Given the description of an element on the screen output the (x, y) to click on. 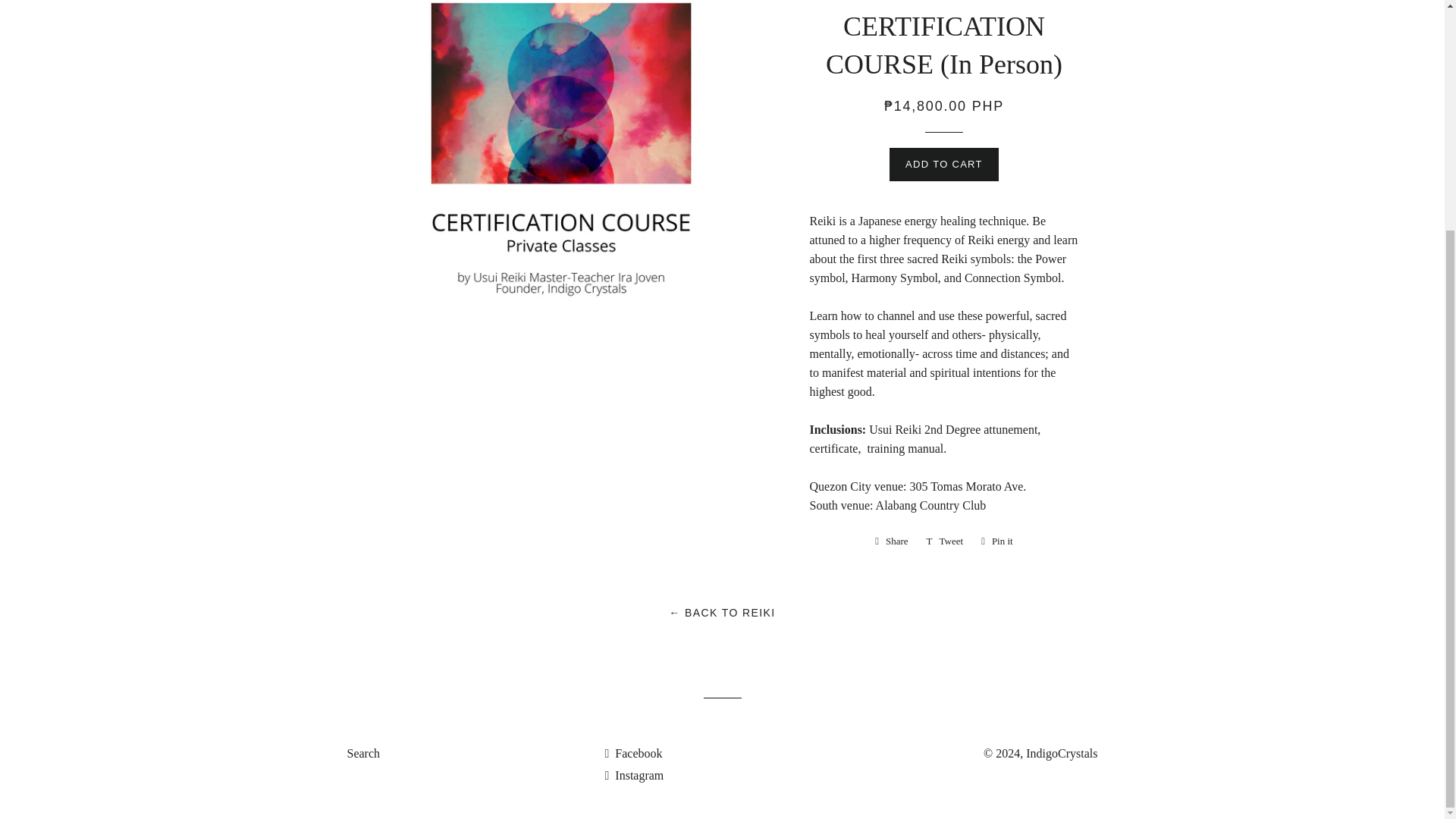
IndigoCrystals (1061, 753)
IndigoCrystals on Instagram (633, 775)
IndigoCrystals on Facebook (944, 540)
Facebook (633, 753)
ADD TO CART (633, 753)
Tweet on Twitter (943, 164)
Pin on Pinterest (944, 540)
Search (891, 540)
